Given the description of an element on the screen output the (x, y) to click on. 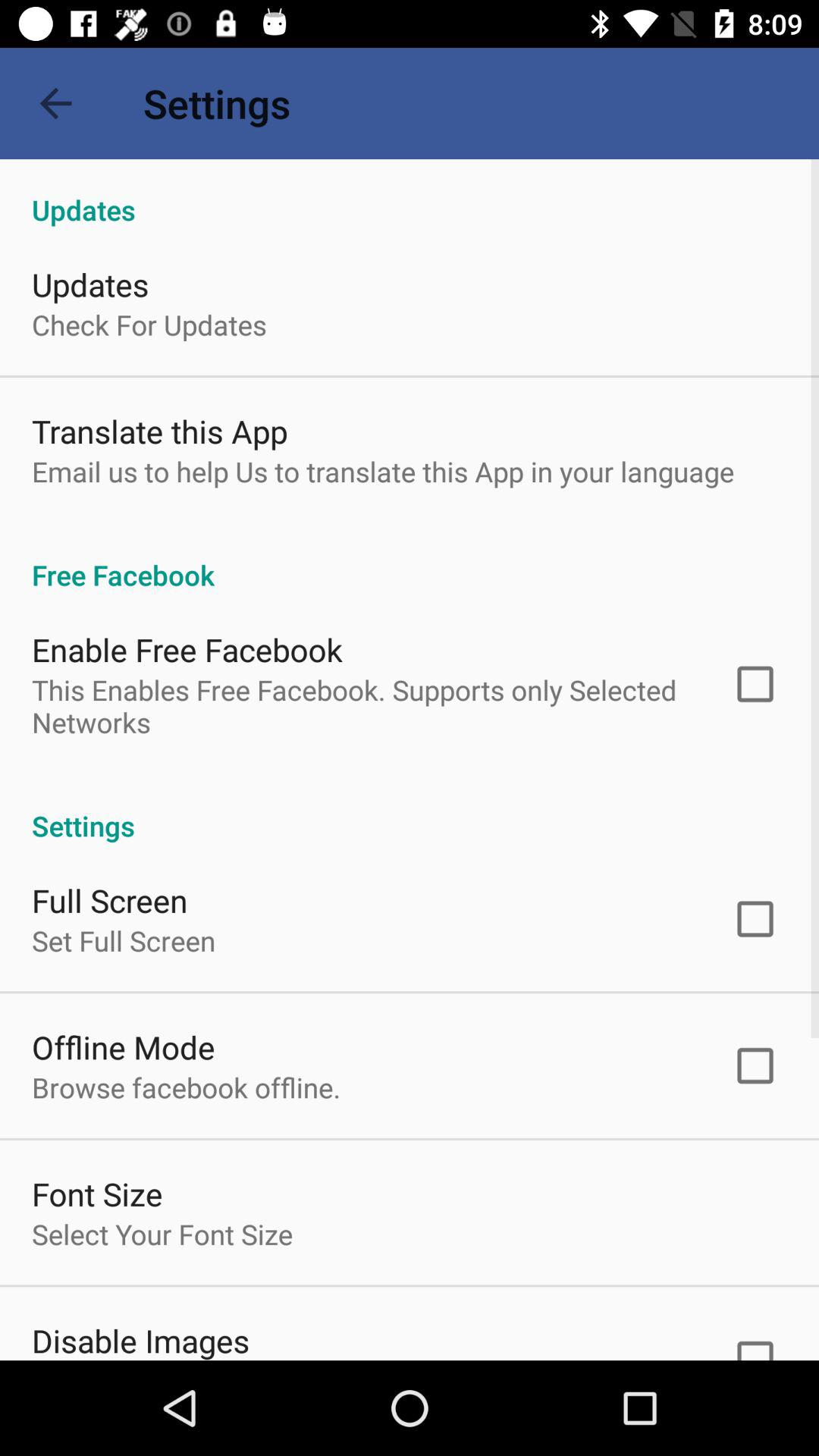
click icon below offline mode item (185, 1087)
